Given the description of an element on the screen output the (x, y) to click on. 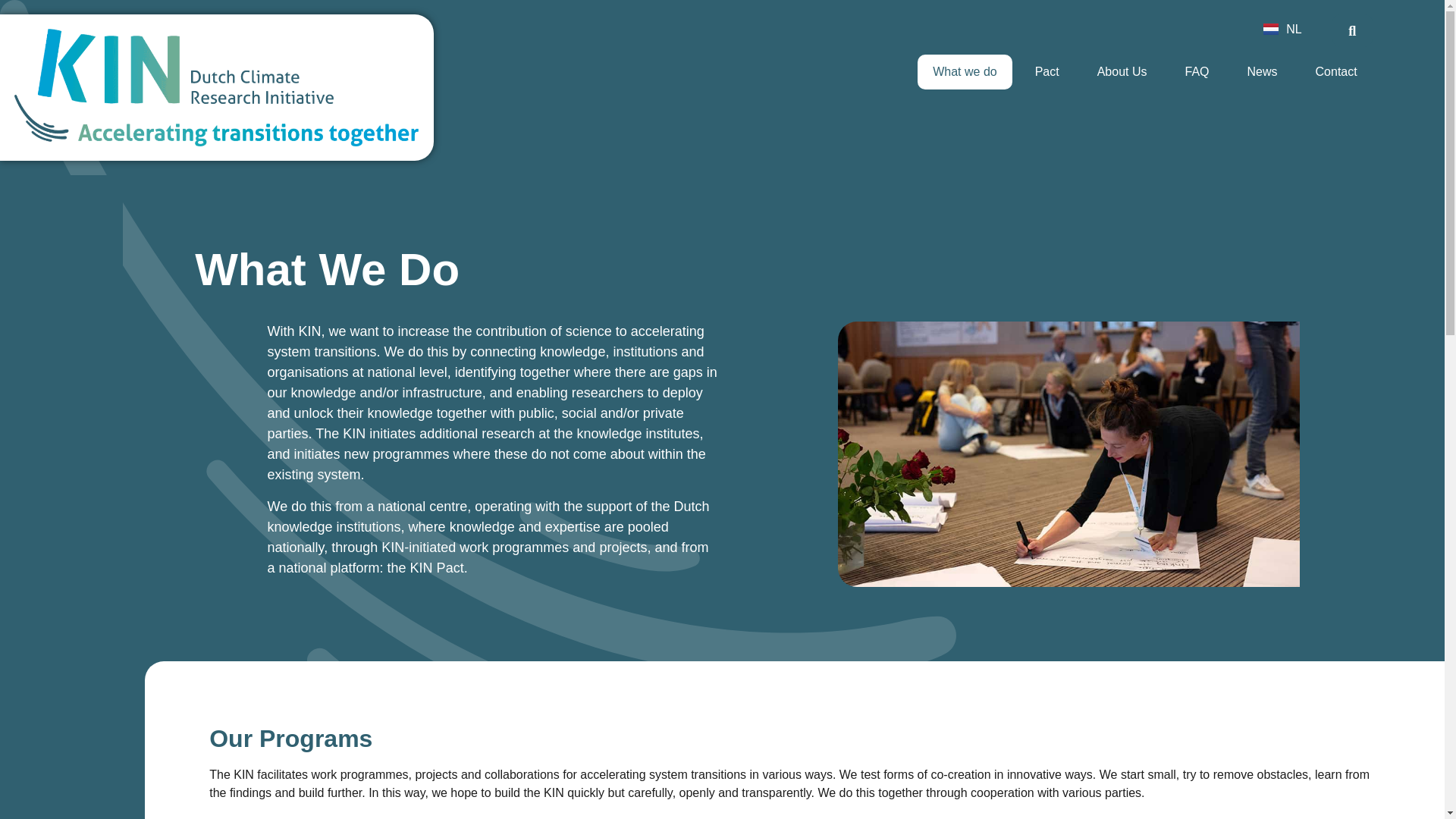
News (1261, 71)
NL (1281, 29)
FAQ (1196, 71)
About Us (1121, 71)
What we do (964, 71)
Contact (1336, 71)
Pact (1047, 71)
